Given the description of an element on the screen output the (x, y) to click on. 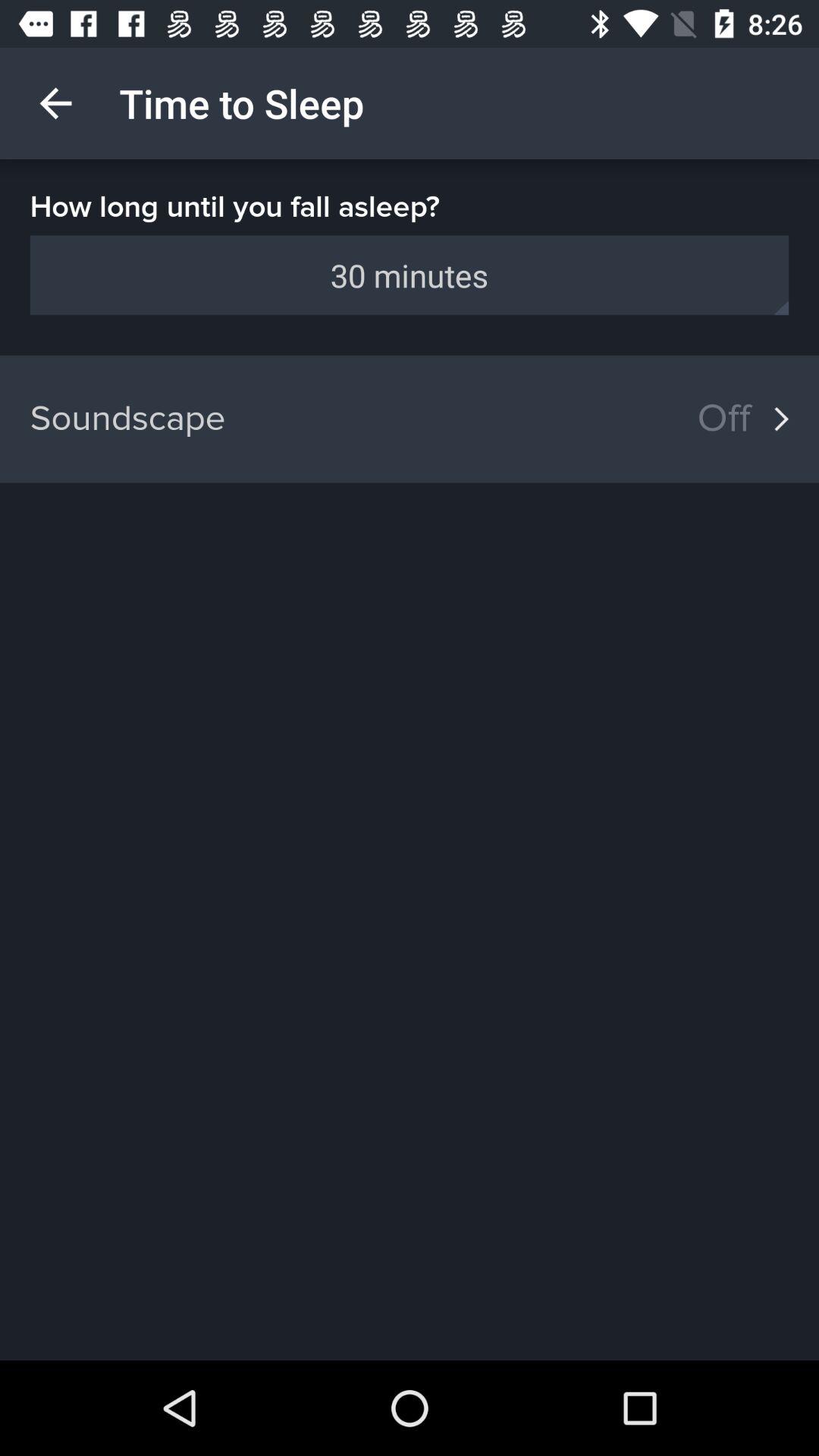
turn off the icon to the left of time to sleep (55, 103)
